Given the description of an element on the screen output the (x, y) to click on. 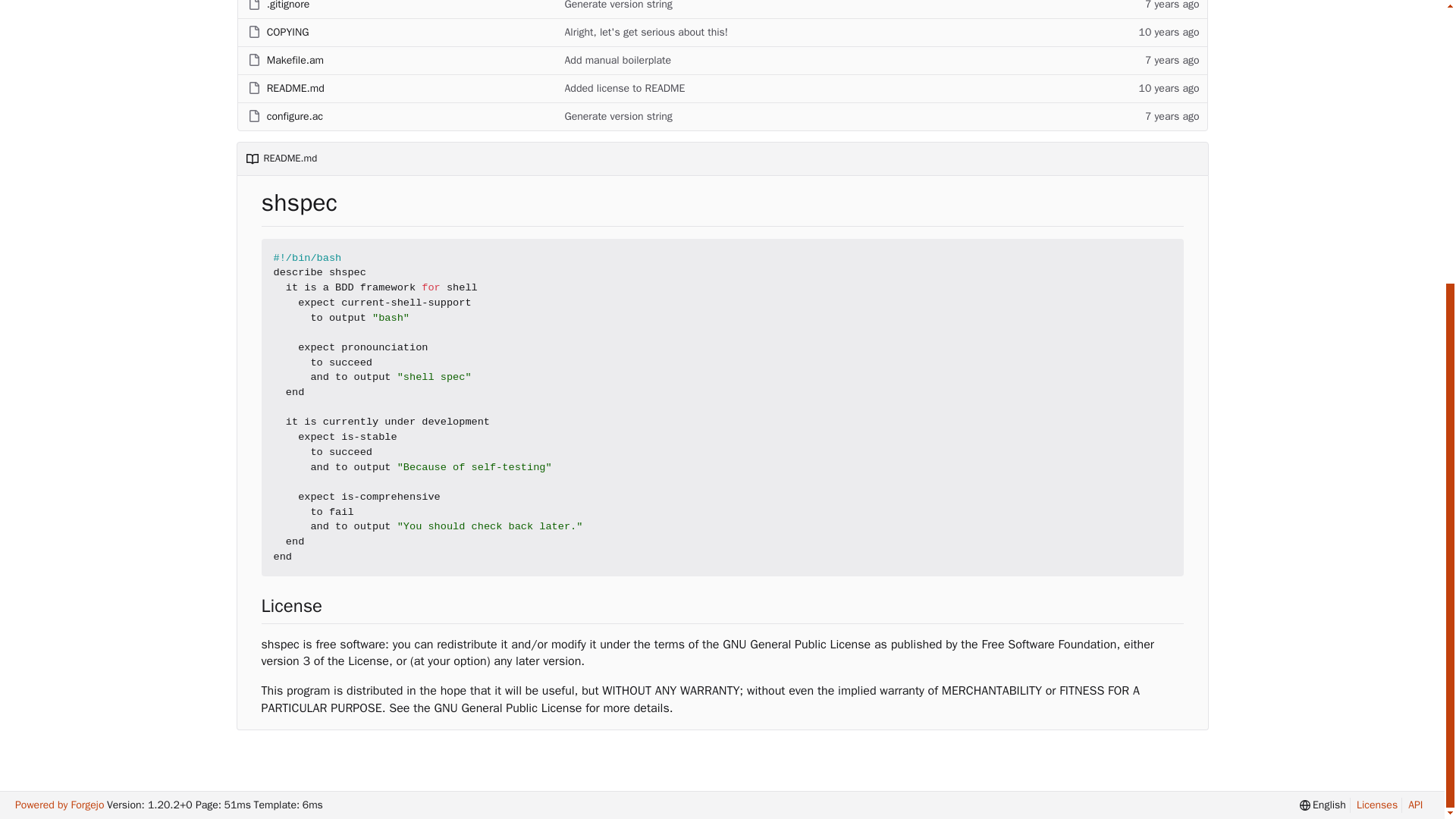
.gitignore (287, 8)
